Given the description of an element on the screen output the (x, y) to click on. 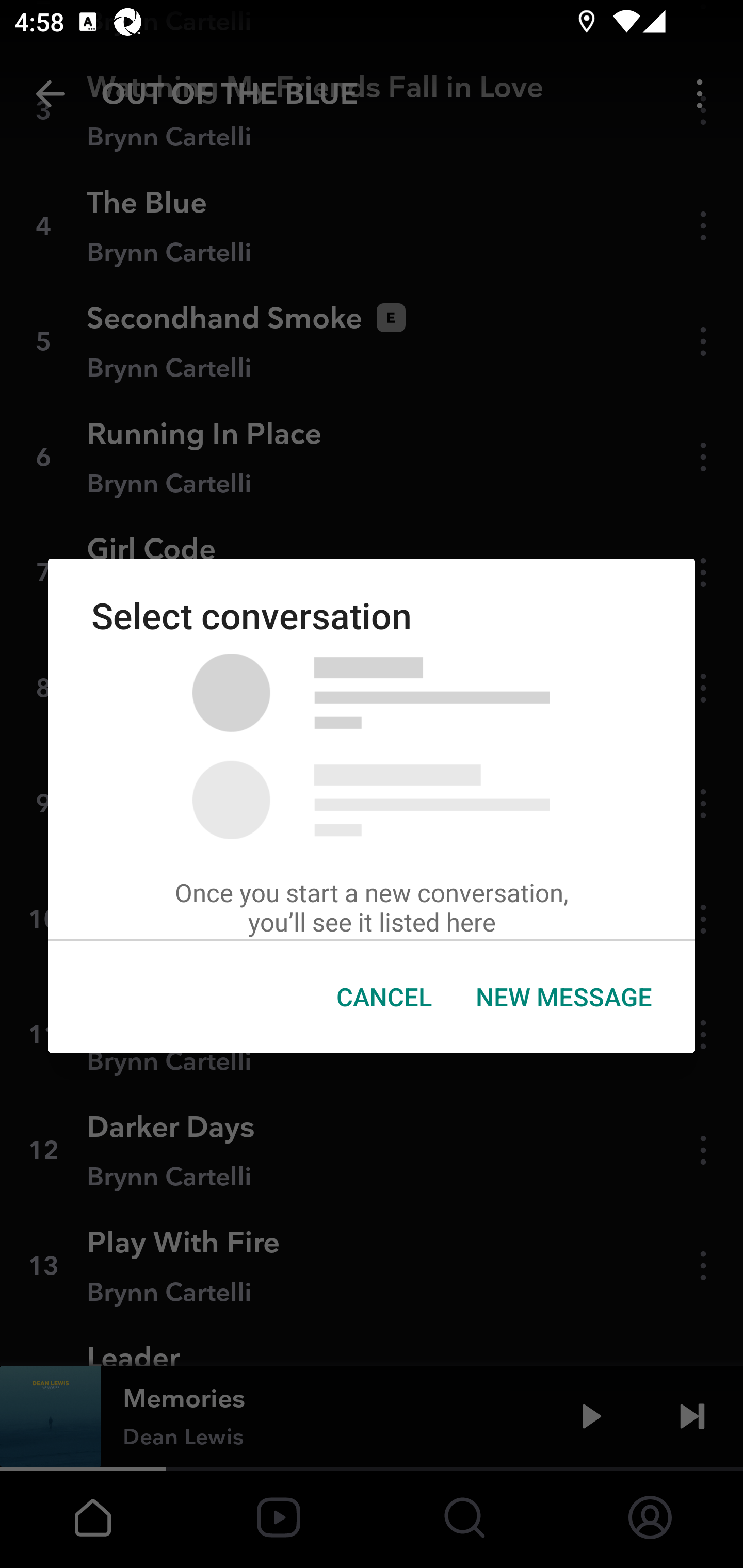
CANCEL (384, 996)
NEW MESSAGE (563, 996)
